Given the description of an element on the screen output the (x, y) to click on. 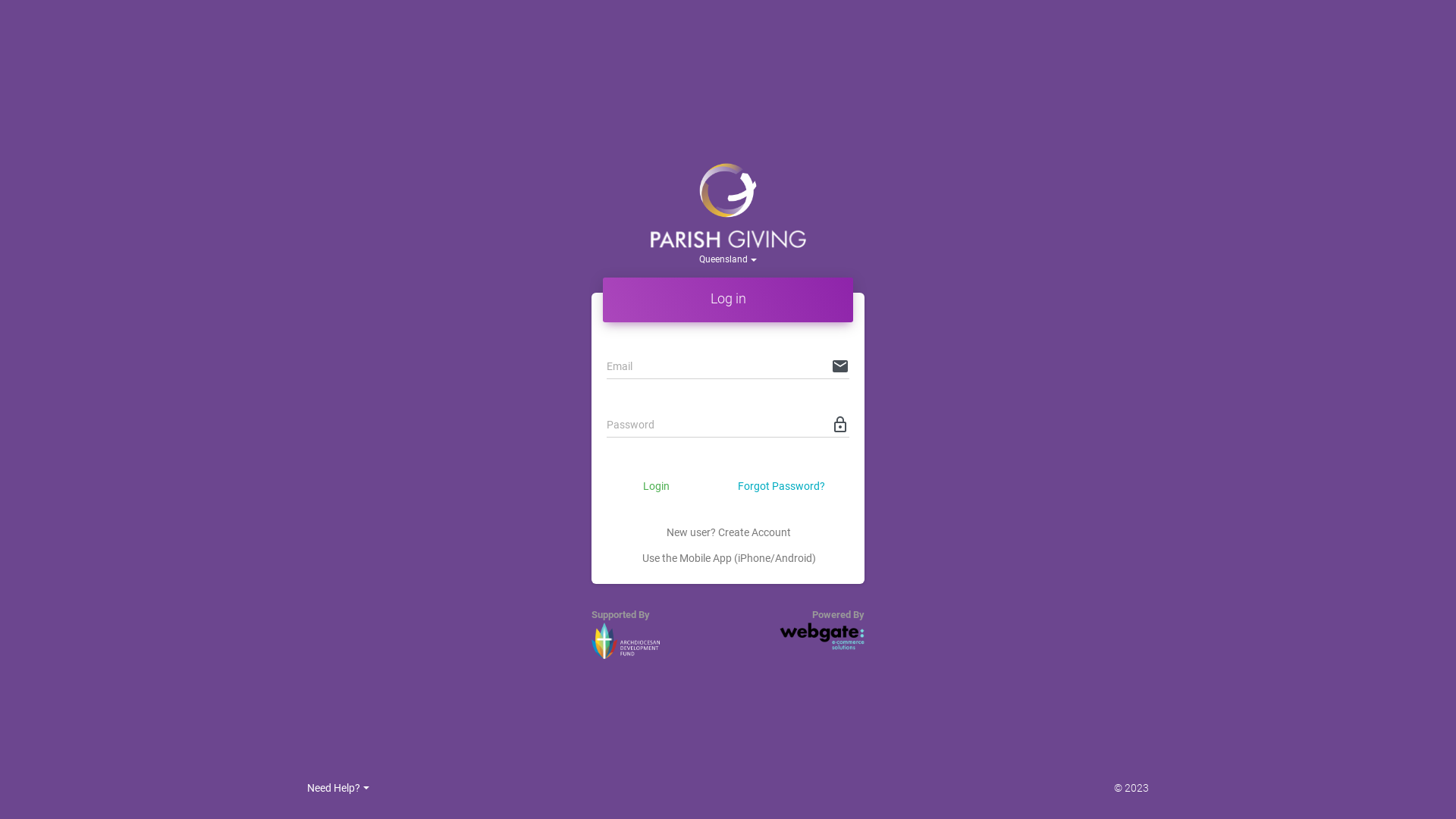
Use the Mobile App (iPhone/Android) Element type: text (728, 558)
Need Help? Element type: text (337, 787)
New user? Create Account Element type: text (728, 532)
Login Element type: text (656, 486)
Forgot Password? Element type: text (781, 486)
Queensland Element type: text (727, 259)
